Given the description of an element on the screen output the (x, y) to click on. 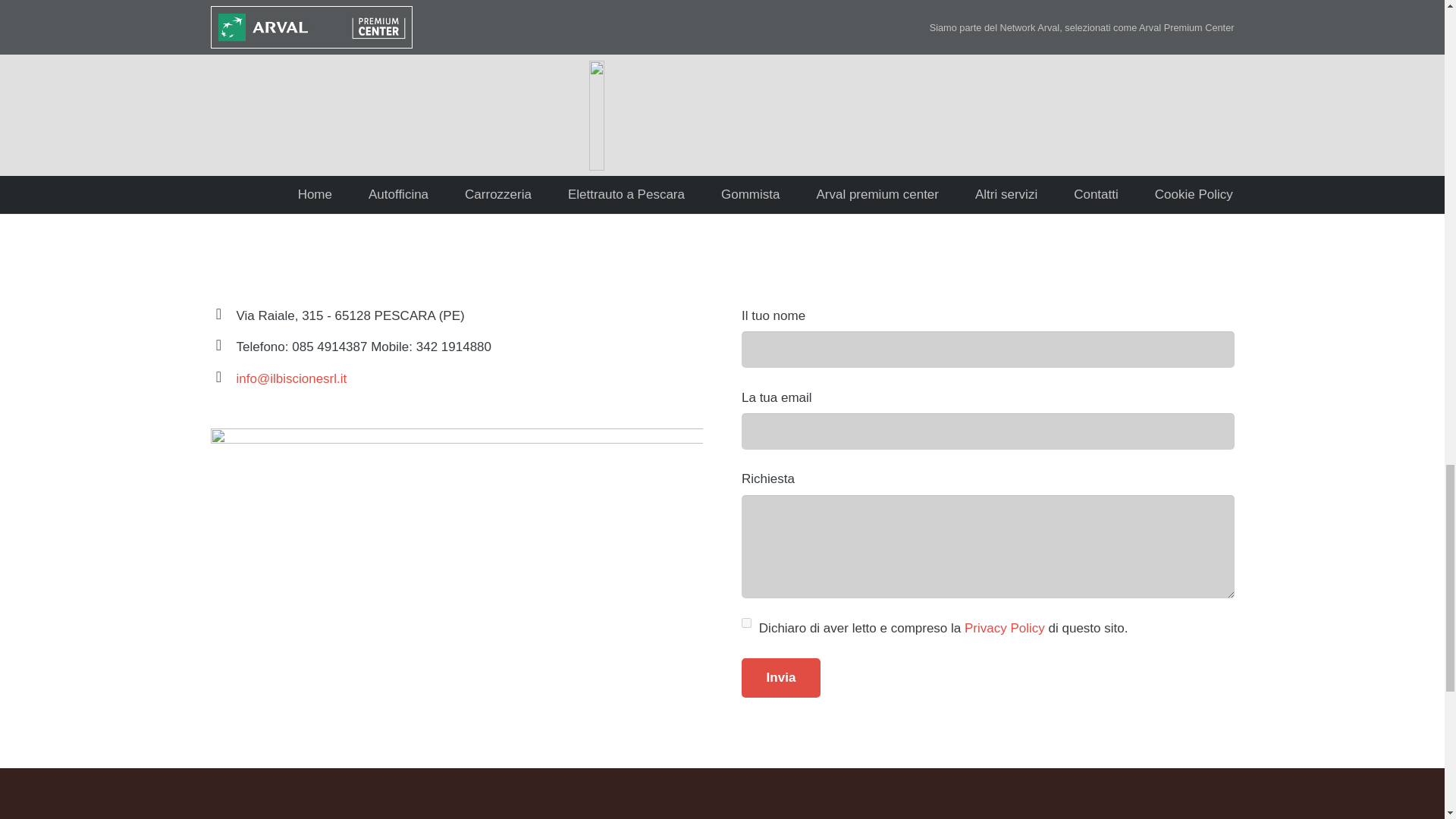
1 (746, 623)
Invia (781, 677)
Invia (781, 677)
Privacy Policy (1004, 627)
